Given the description of an element on the screen output the (x, y) to click on. 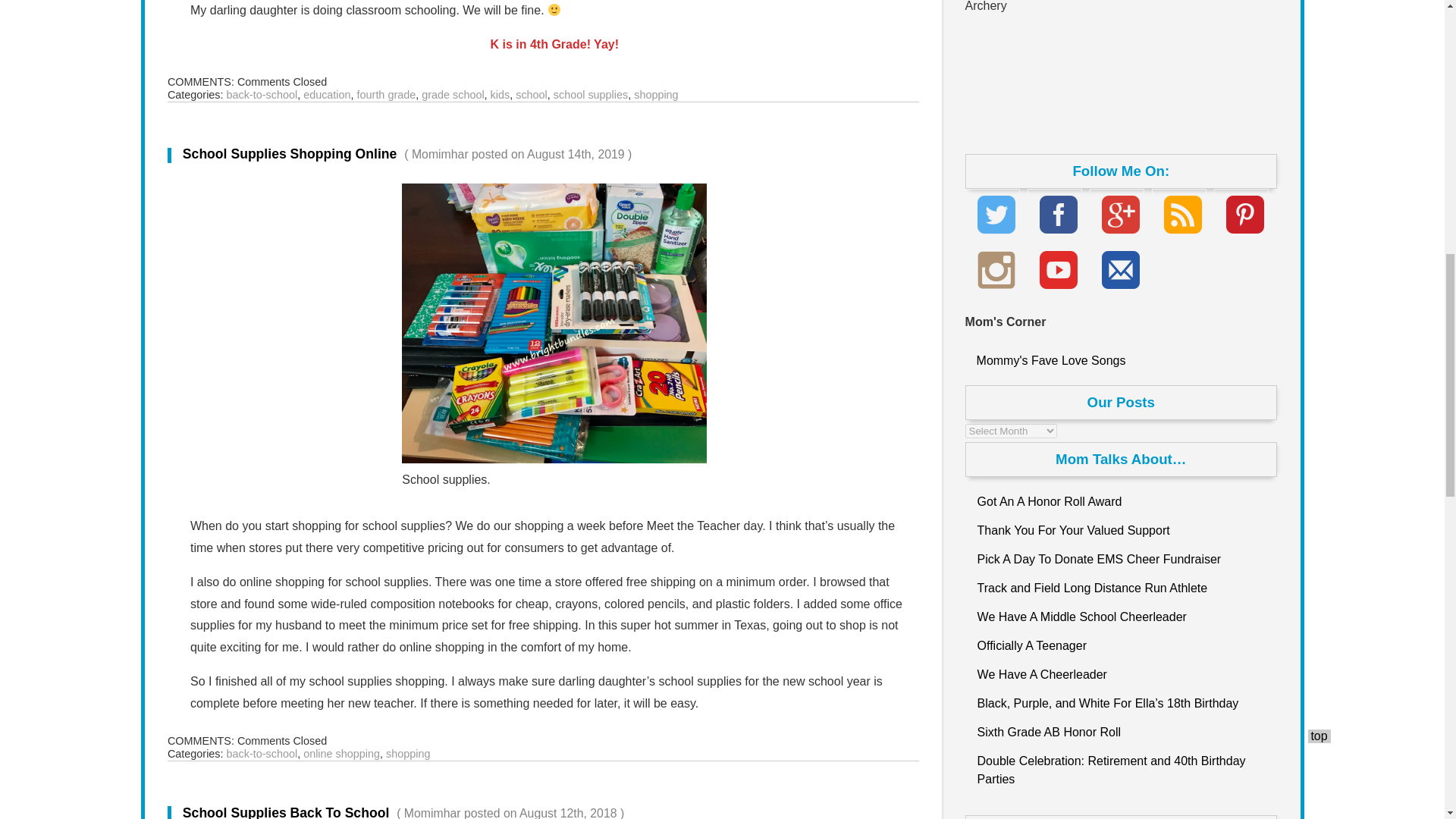
back-to-school (262, 753)
fourth grade (386, 94)
school supplies (590, 94)
kids (500, 94)
education (326, 94)
School Supplies Back To School (395, 812)
grade school (452, 94)
shopping (407, 753)
back-to-school (262, 94)
online shopping (341, 753)
School Supplies Shopping Online (399, 153)
shopping (655, 94)
school (531, 94)
